Given the description of an element on the screen output the (x, y) to click on. 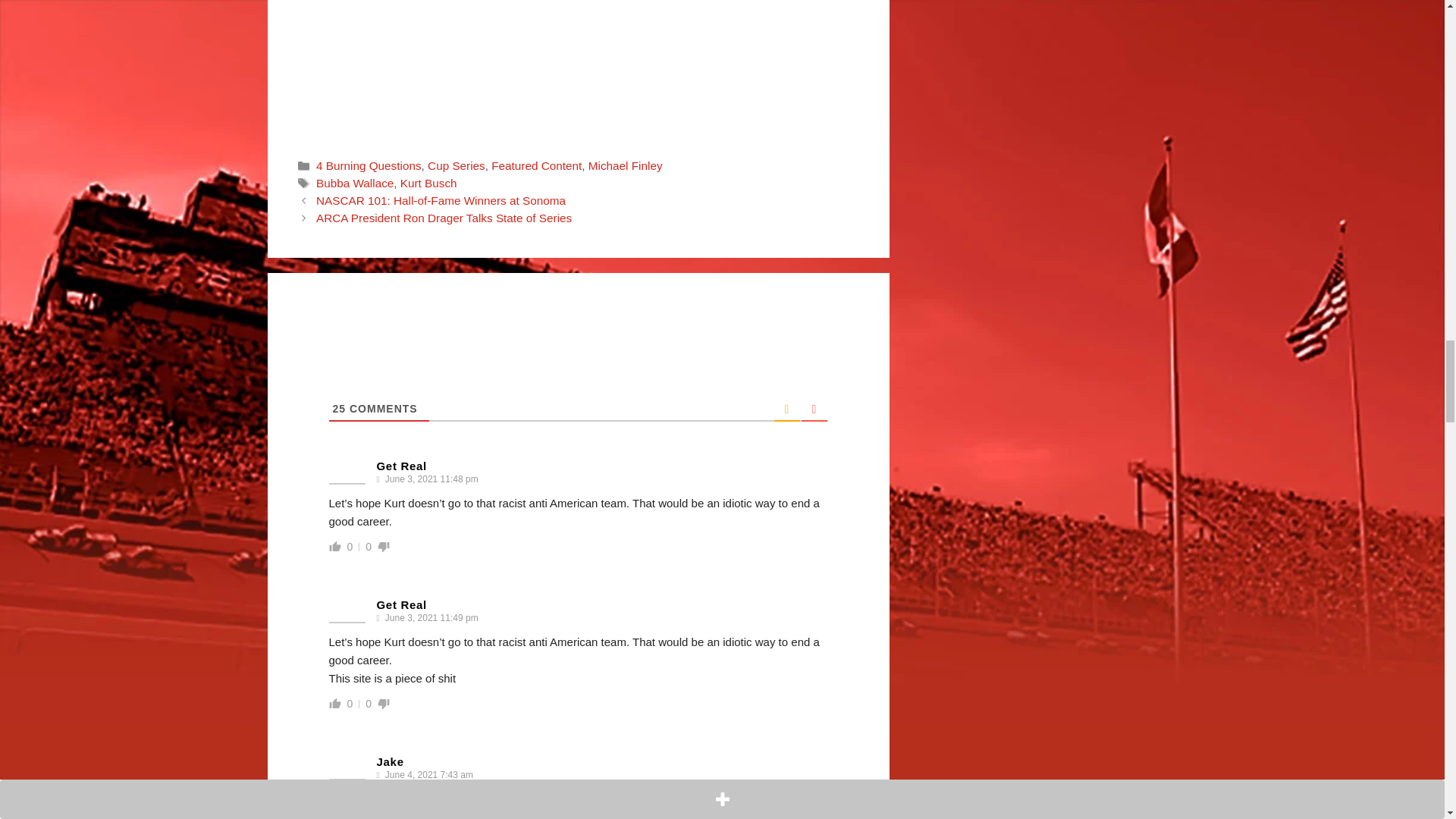
25 (338, 408)
June 3, 2021 11:48 pm (429, 479)
Featured Content (536, 164)
4 Burning Questions (368, 164)
Cup Series (456, 164)
0 (349, 546)
